Given the description of an element on the screen output the (x, y) to click on. 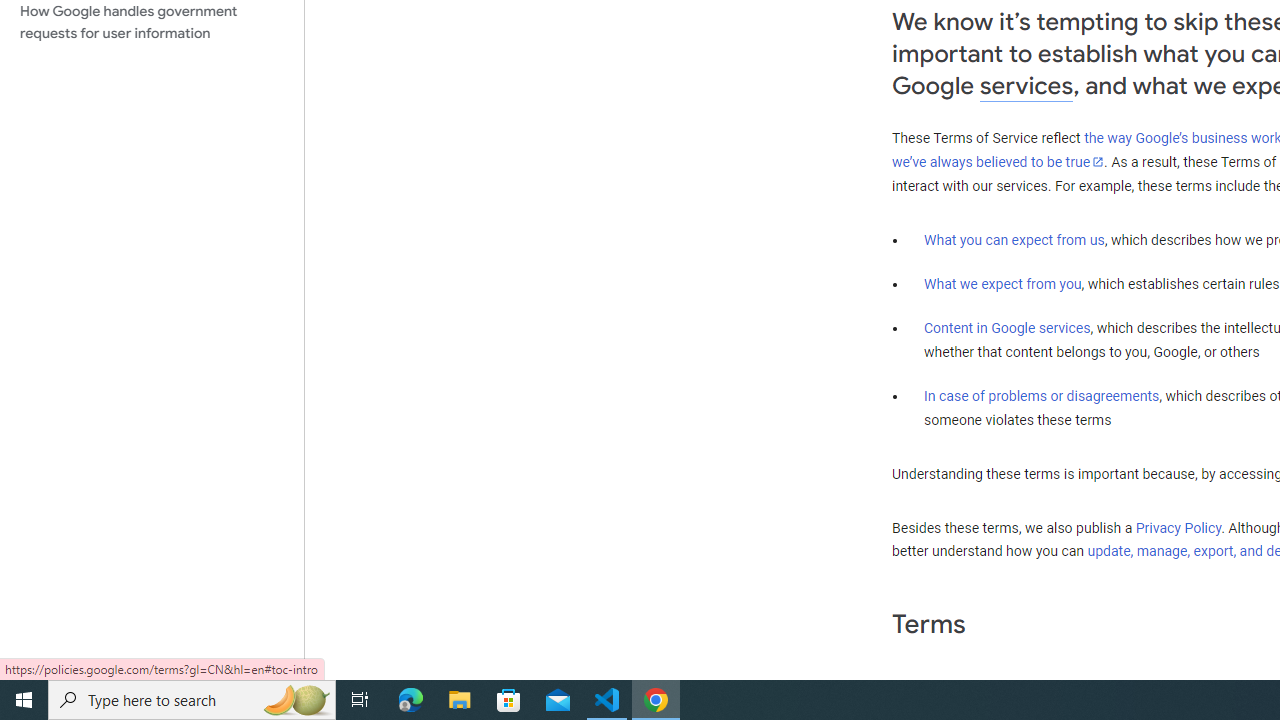
What you can expect from us (1014, 240)
In case of problems or disagreements (1041, 395)
What we expect from you (1002, 284)
services (1026, 85)
Content in Google services (1007, 327)
